Given the description of an element on the screen output the (x, y) to click on. 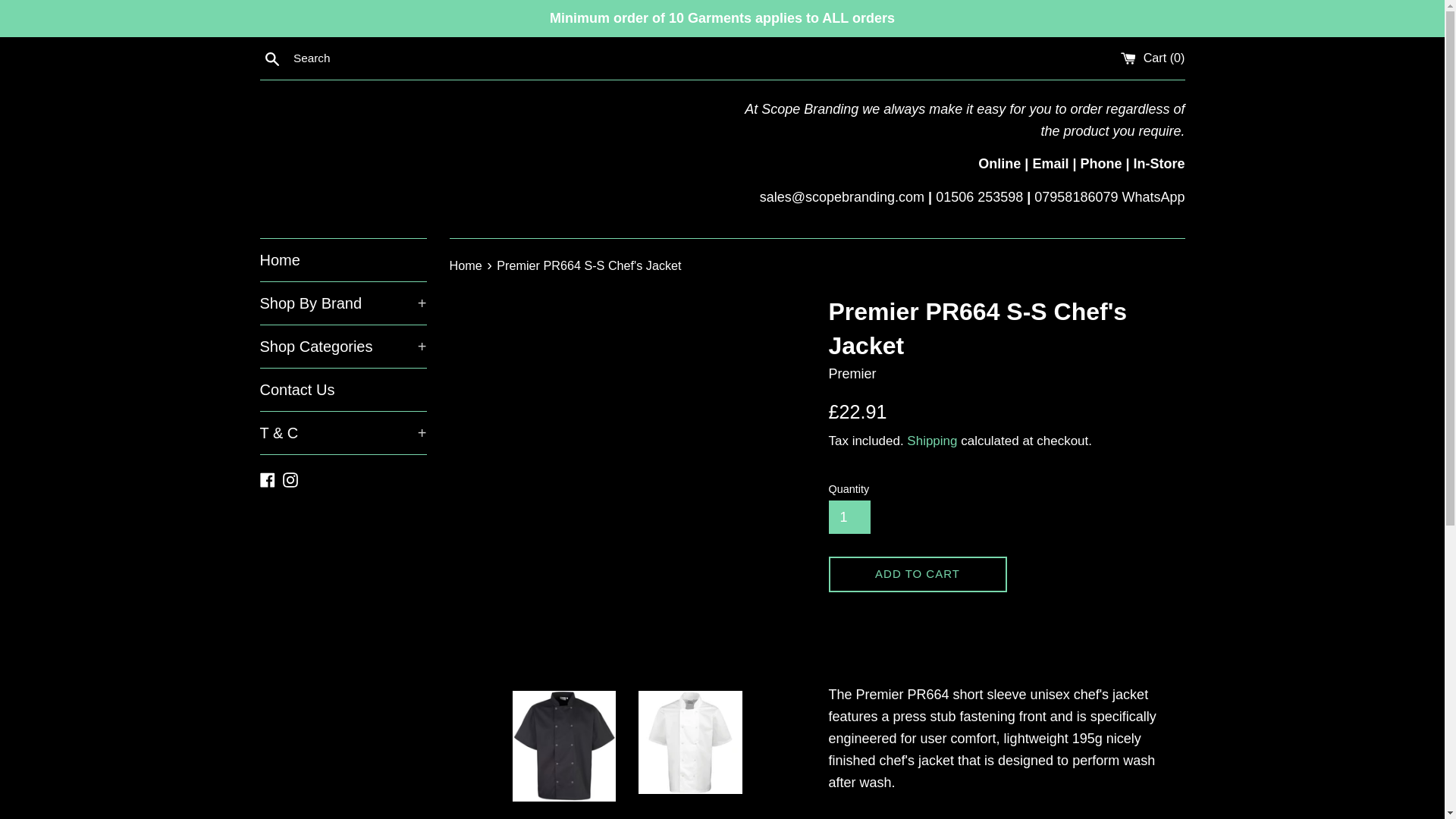
Search (271, 57)
Scope Branding UK on Facebook (267, 478)
Back to the frontpage (466, 264)
Home (342, 260)
Scope Branding UK on Instagram (290, 478)
1 (848, 517)
